Given the description of an element on the screen output the (x, y) to click on. 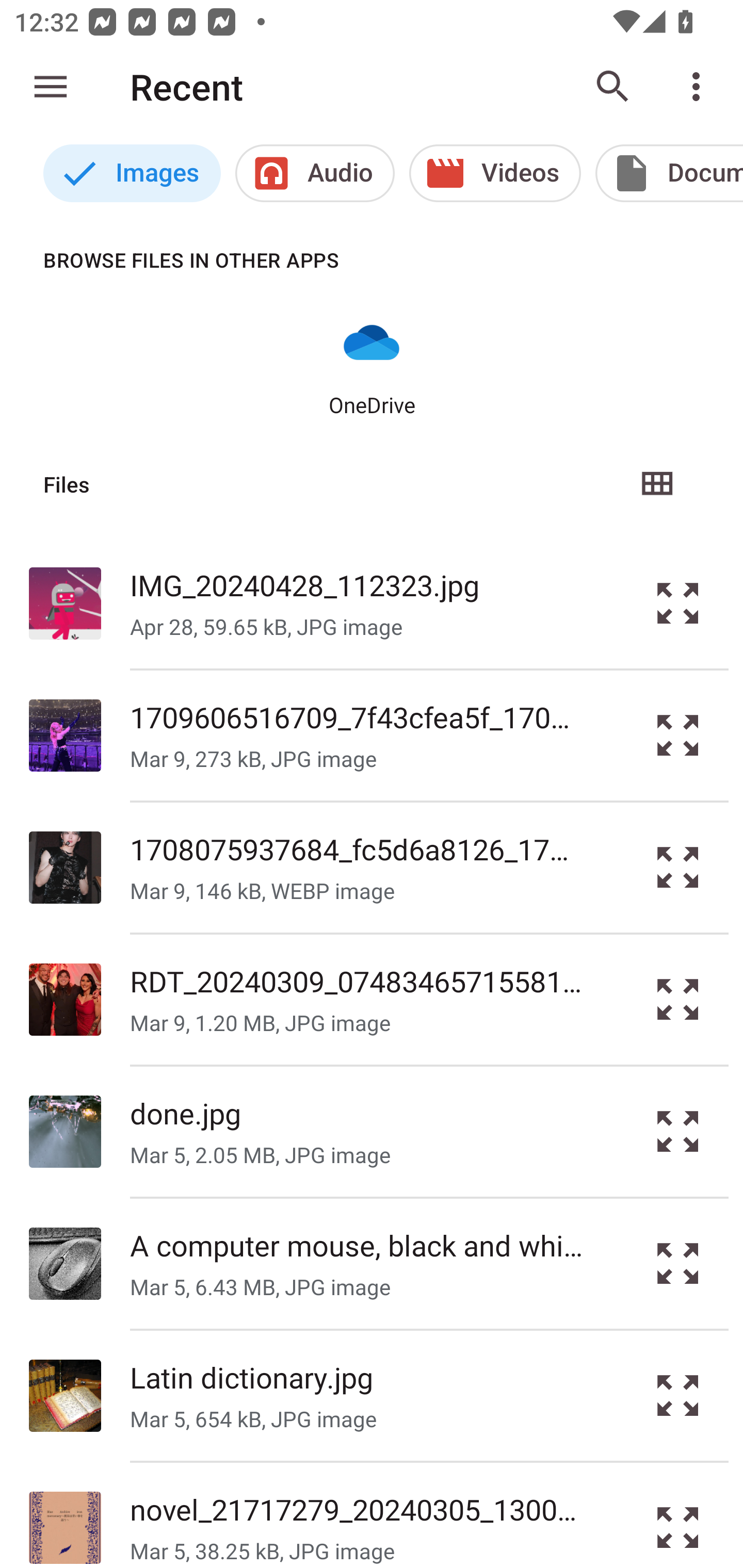
Show roots (50, 86)
Search (612, 86)
More options (699, 86)
Images (131, 173)
Audio (314, 173)
Videos (495, 173)
Documents (669, 173)
OneDrive (371, 365)
Grid view (655, 484)
Preview the file IMG_20240428_112323.jpg (677, 602)
Preview the file done.jpg (677, 1131)
Preview the file Latin dictionary.jpg (677, 1396)
